Given the description of an element on the screen output the (x, y) to click on. 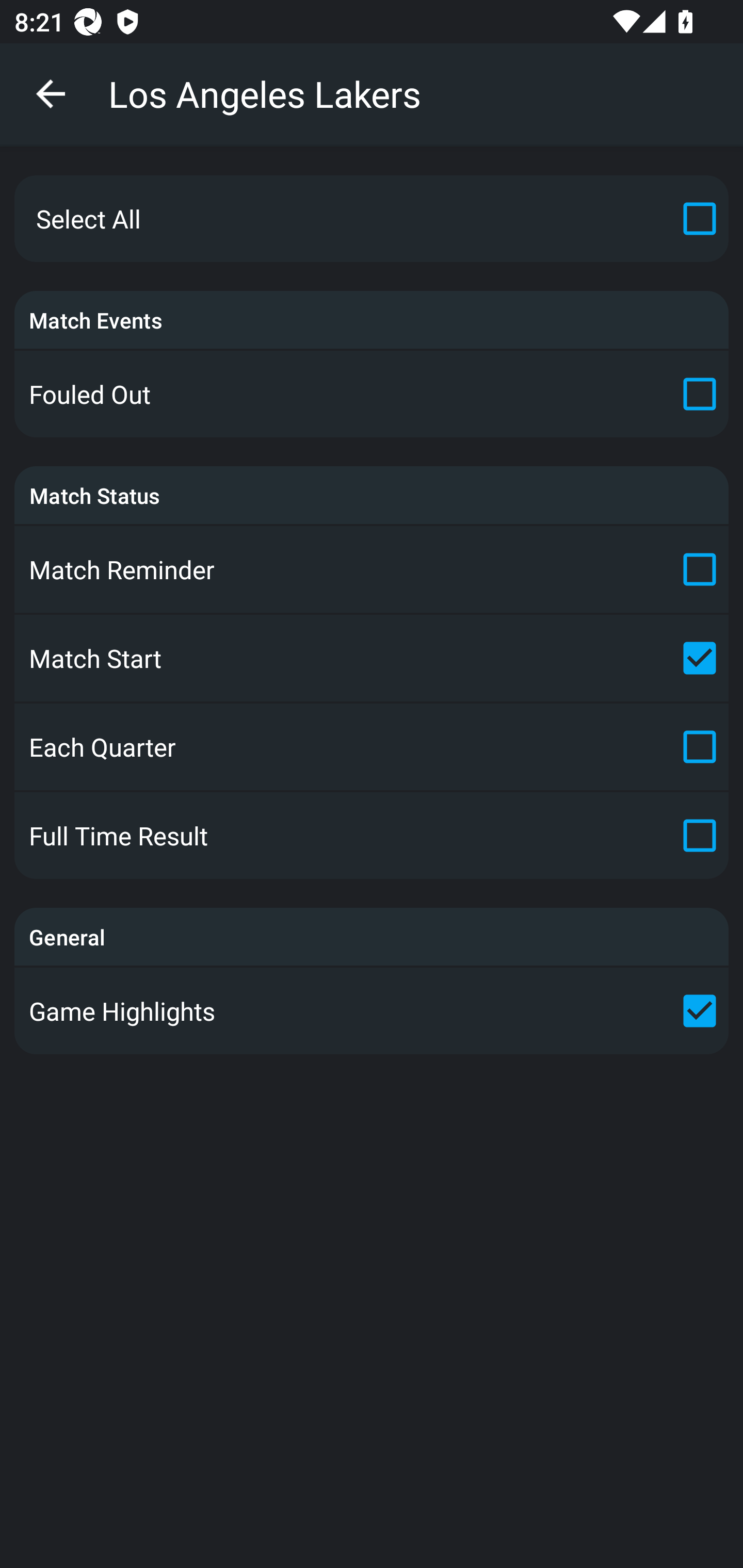
Navigate up (50, 93)
Fouled Out (371, 394)
Match Reminder (371, 569)
Match Start (371, 657)
Each Quarter (371, 747)
Full Time Result (371, 835)
Game Highlights (371, 1010)
